Given the description of an element on the screen output the (x, y) to click on. 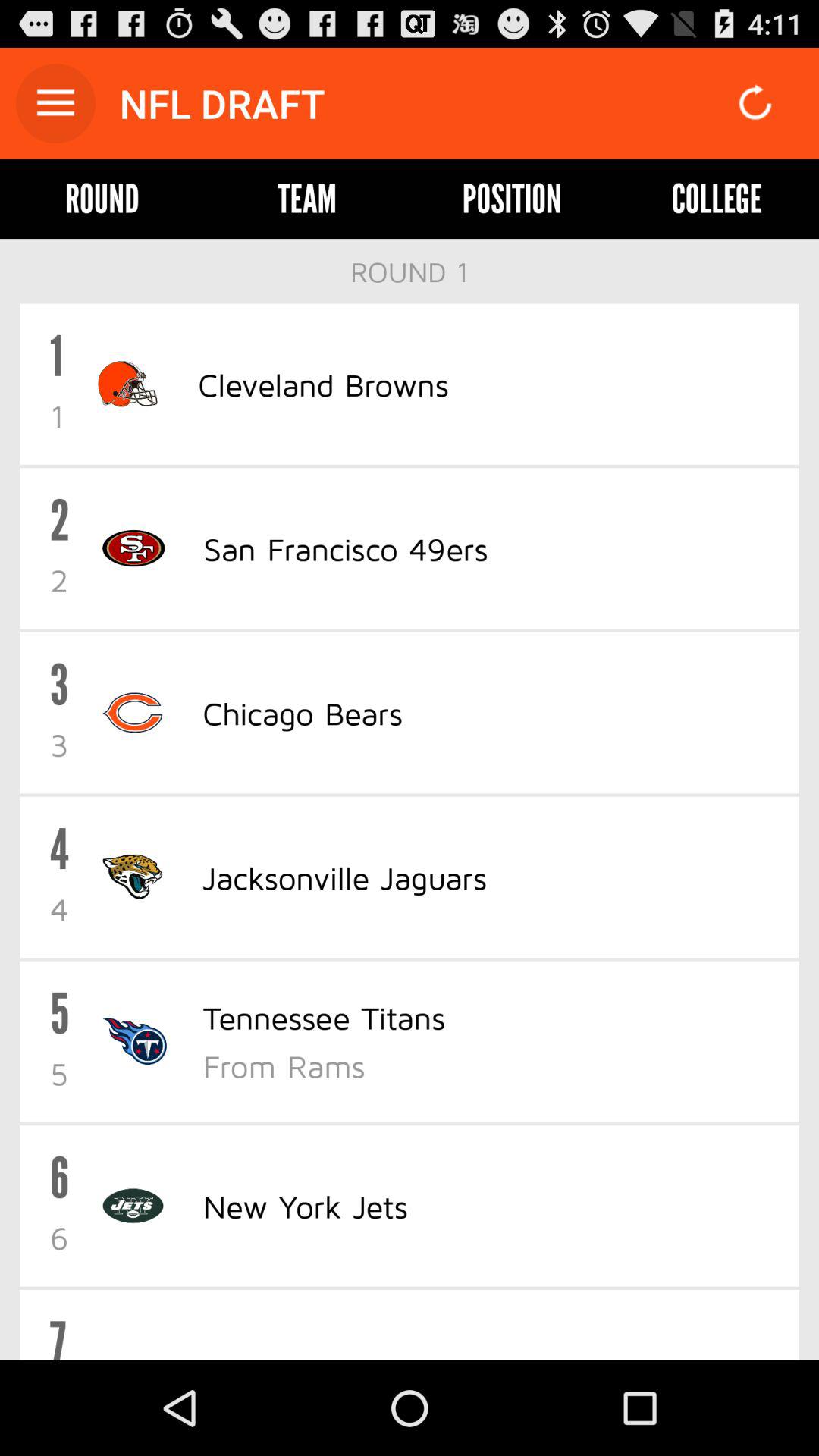
jump to the chicago bears (302, 712)
